Given the description of an element on the screen output the (x, y) to click on. 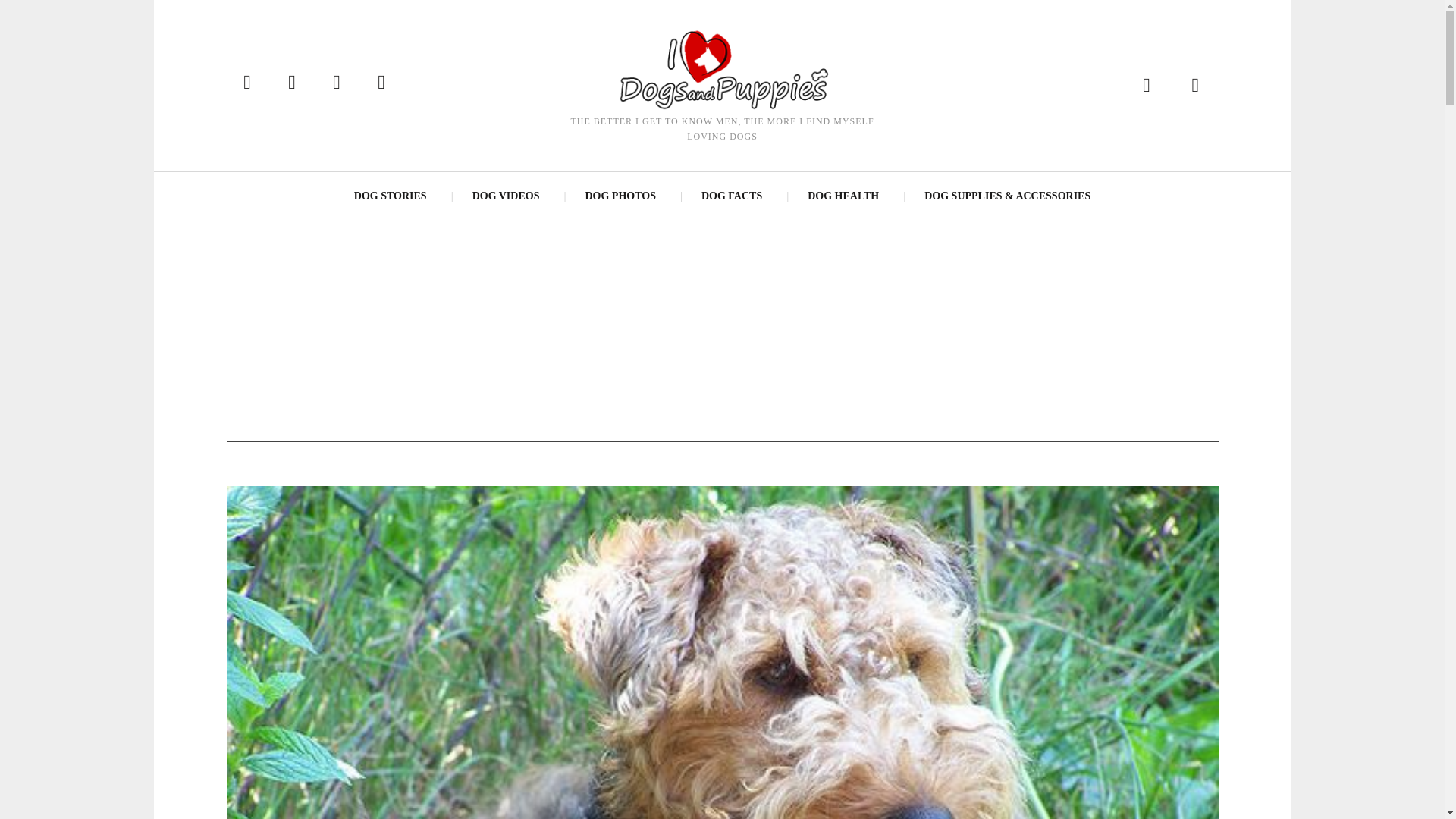
DOG FACTS (731, 195)
DOG HEALTH (842, 195)
DOG VIDEOS (505, 195)
DOG PHOTOS (619, 195)
DOG STORIES (390, 195)
ILoveDogsAndPuppies (721, 68)
